Given the description of an element on the screen output the (x, y) to click on. 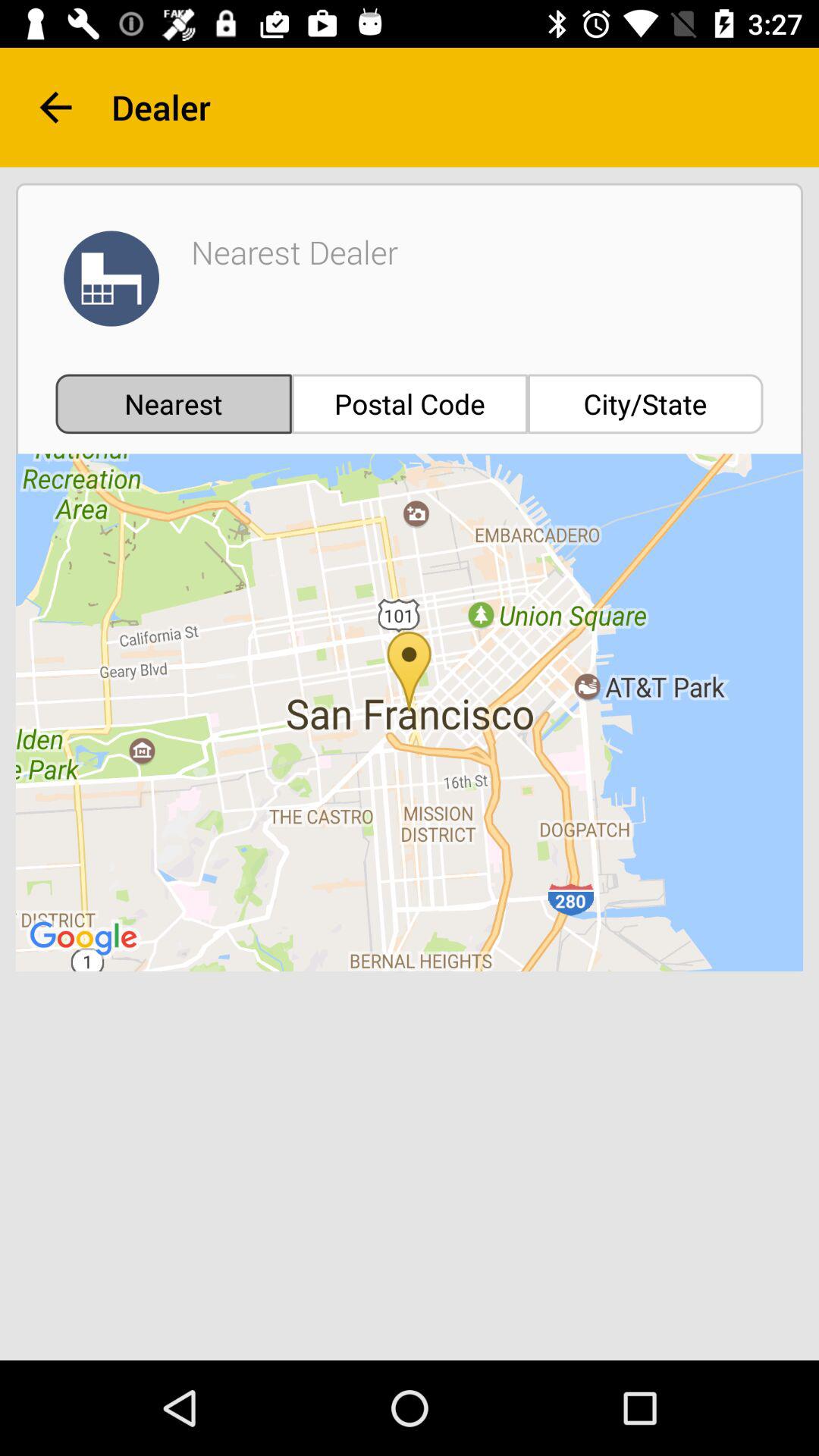
choose the item to the right of the nearest (409, 403)
